Given the description of an element on the screen output the (x, y) to click on. 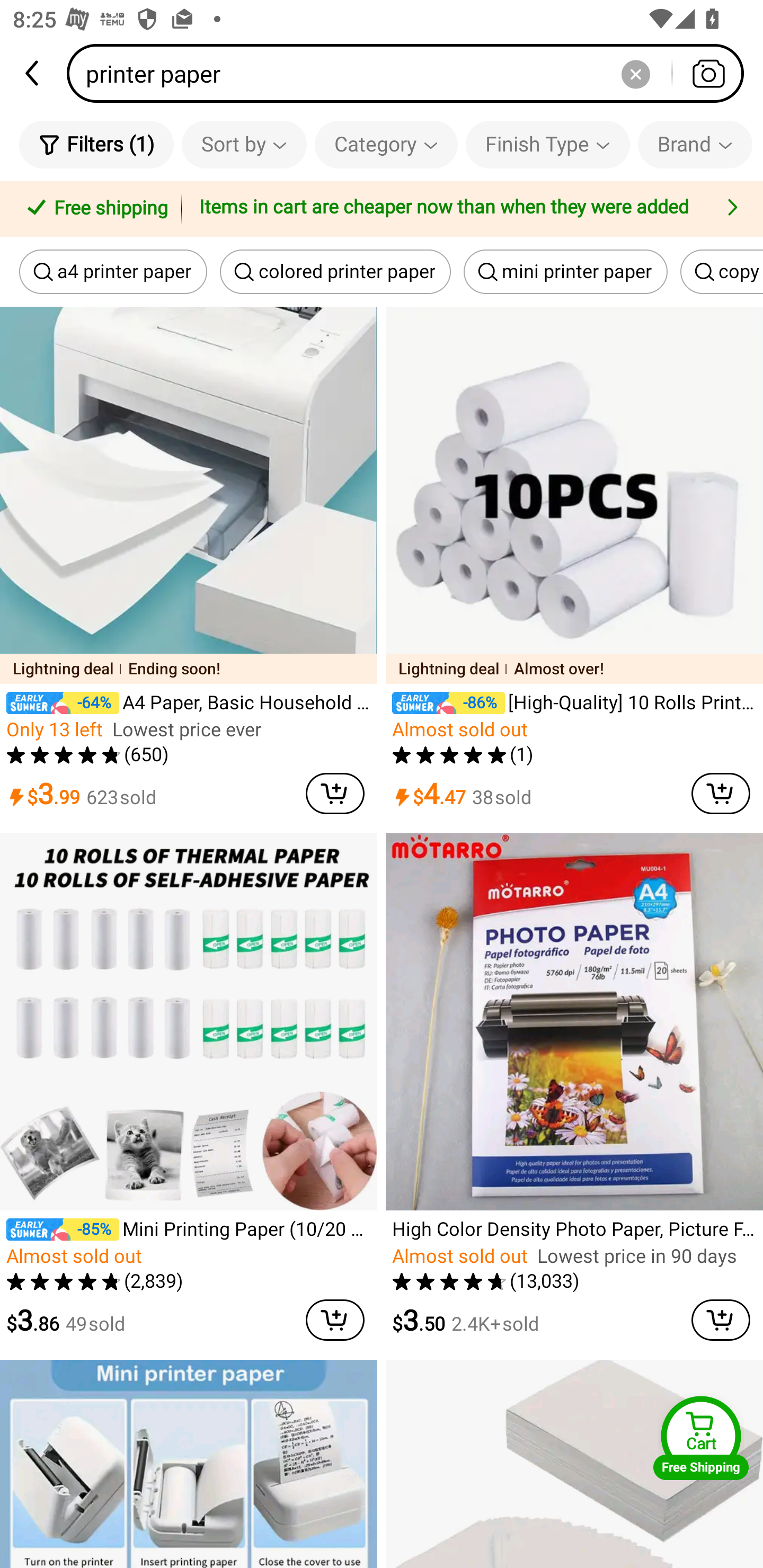
back (33, 72)
printer paper (411, 73)
Delete search history (635, 73)
Search by photo (708, 73)
Filters (1) (96, 143)
Sort by (243, 143)
Category (385, 143)
Finish Type (547, 143)
Brand (694, 143)
 Free shipping (93, 208)
a4 printer paper (113, 271)
colored printer paper (334, 271)
mini printer paper (565, 271)
copy paper (721, 271)
Cart Free Shipping Cart (701, 1437)
